Given the description of an element on the screen output the (x, y) to click on. 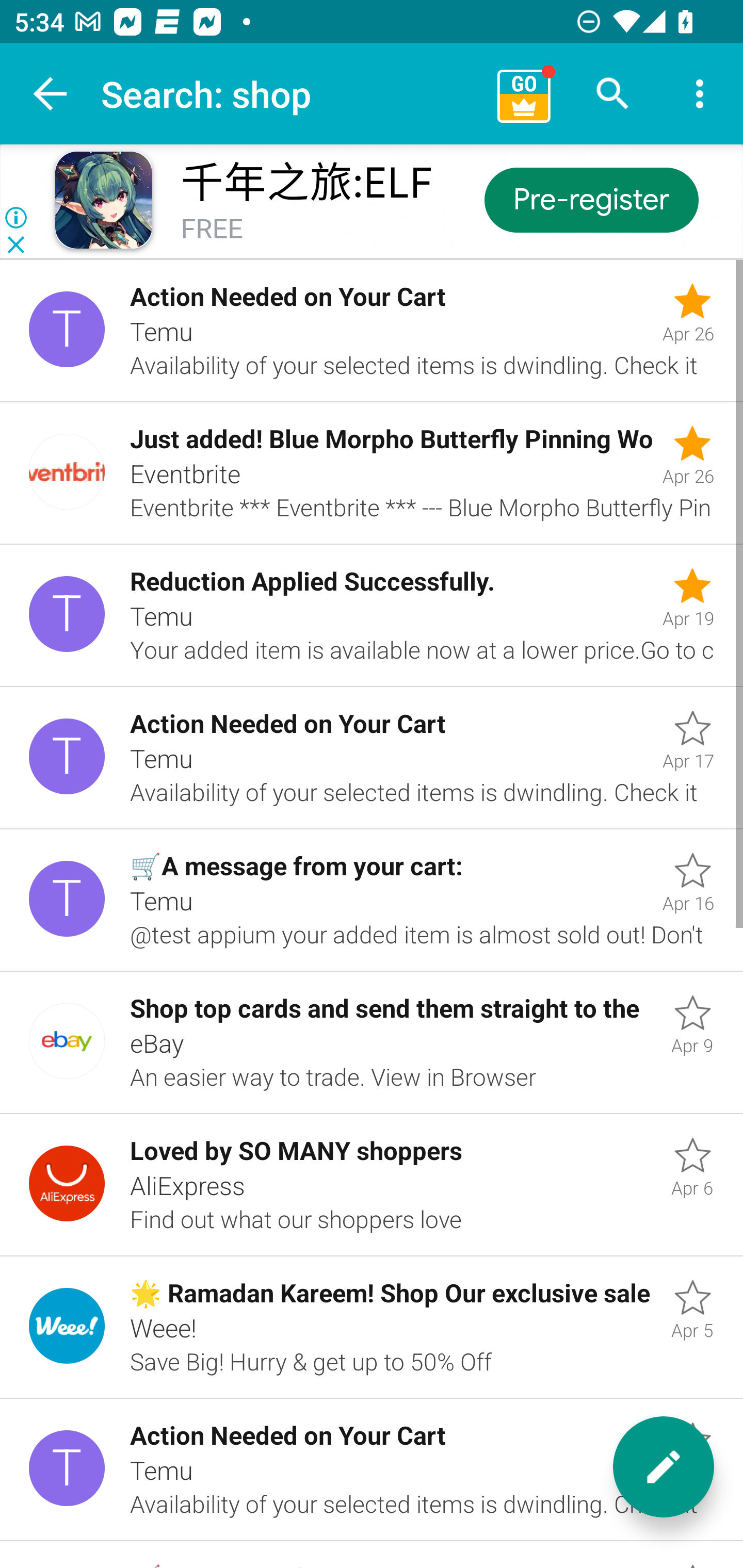
Navigate up (50, 93)
Search (612, 93)
More options (699, 93)
千年之旅:ELF (306, 183)
Pre-register (590, 199)
FREE (211, 230)
New message (663, 1466)
